Given the description of an element on the screen output the (x, y) to click on. 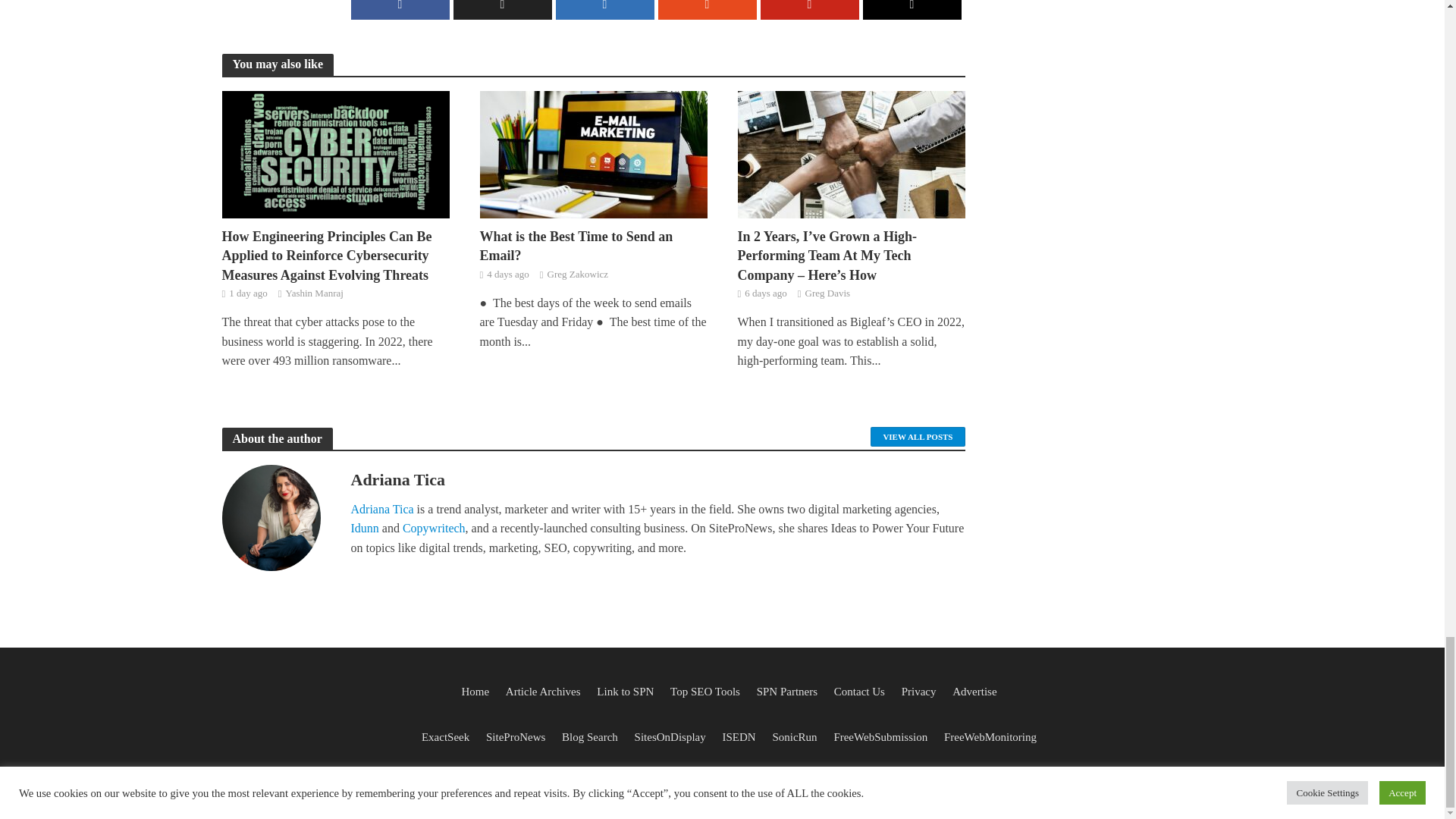
What is the Best Time to Send an Email? (592, 152)
